Given the description of an element on the screen output the (x, y) to click on. 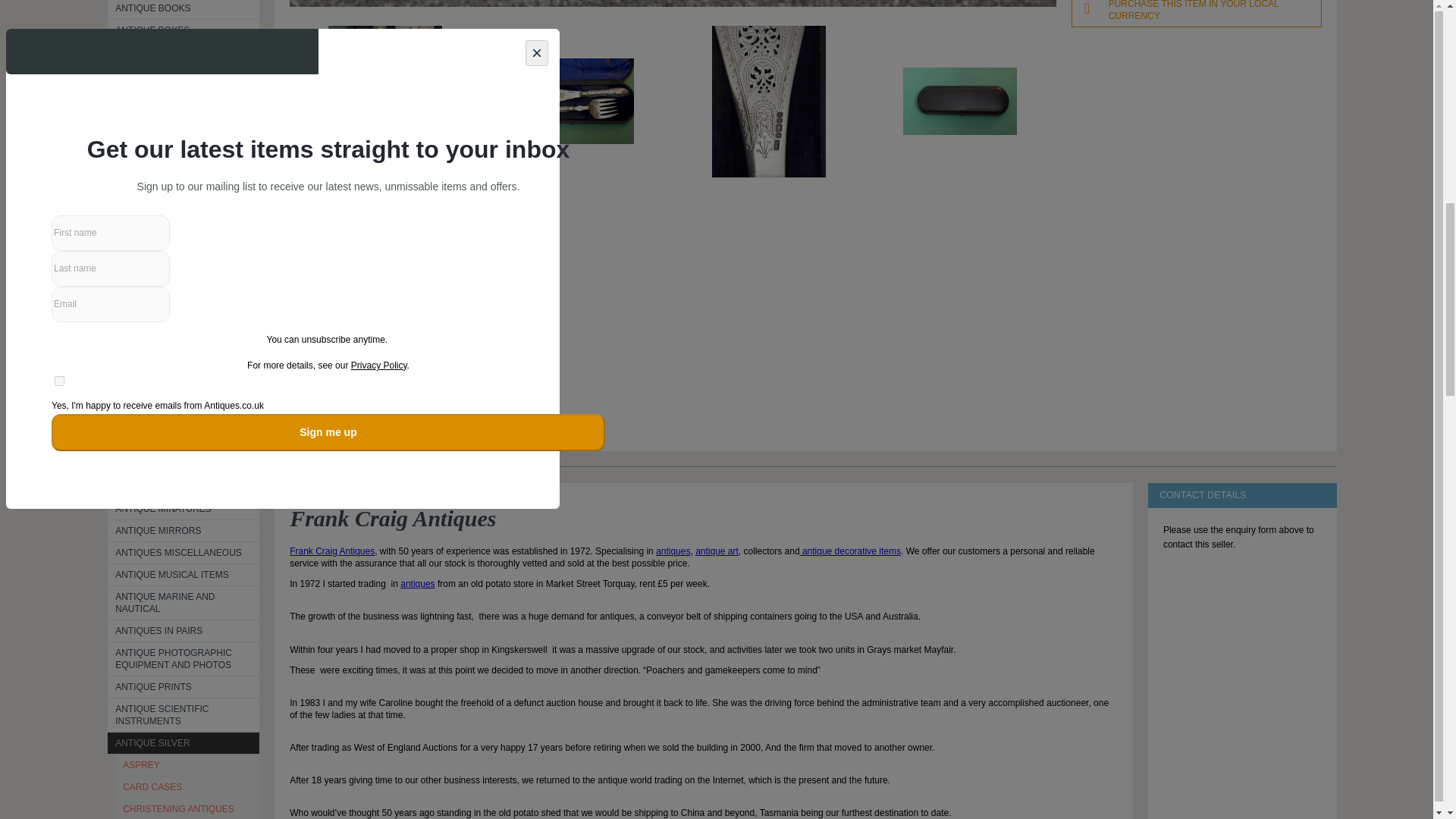
ANTIQUE BOXES (183, 29)
ANTIQUE BOOKS (183, 9)
ANTIQUE CERAMICS (183, 74)
ANTIQUE CHILDRENS FURNITURE (183, 101)
ANTIQUE CARPETS (183, 51)
